Given the description of an element on the screen output the (x, y) to click on. 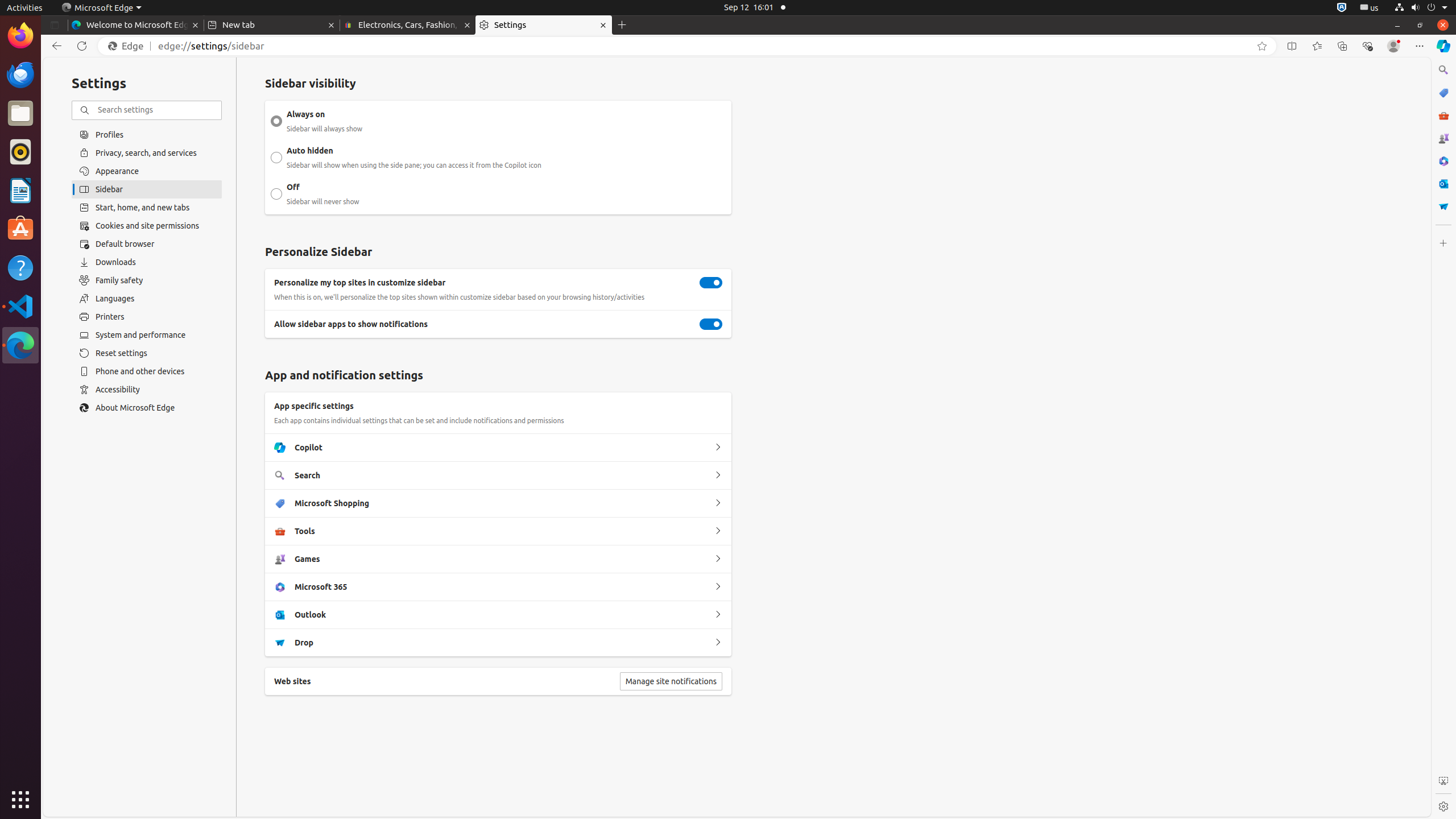
Add this page to favorites (Ctrl+D) Element type: push-button (1261, 46)
Tools Element type: push-button (717, 530)
:1.21/StatusNotifierItem Element type: menu (1369, 7)
Printers Element type: tree-item (146, 316)
Copilot (Ctrl+Shift+.) Element type: push-button (1443, 45)
